Given the description of an element on the screen output the (x, y) to click on. 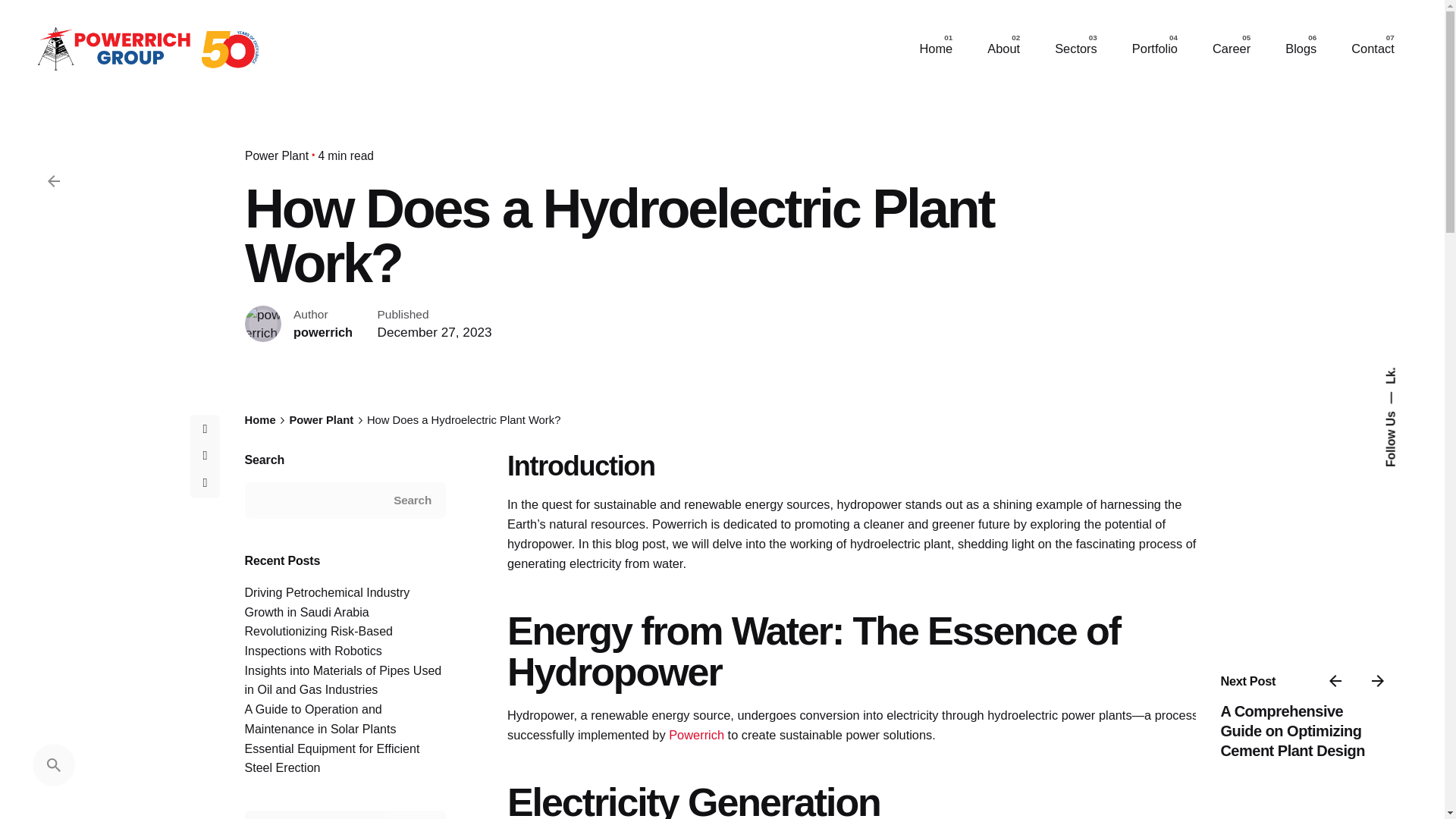
Contact (1372, 49)
Essential Equipment for Efficient Steel Erection (331, 758)
Home (259, 419)
Sectors (1075, 49)
Career (1231, 49)
Driving Petrochemical Industry Growth in Saudi Arabia (326, 602)
Blogs (1300, 49)
Home (935, 49)
Power Plant (275, 155)
